Given the description of an element on the screen output the (x, y) to click on. 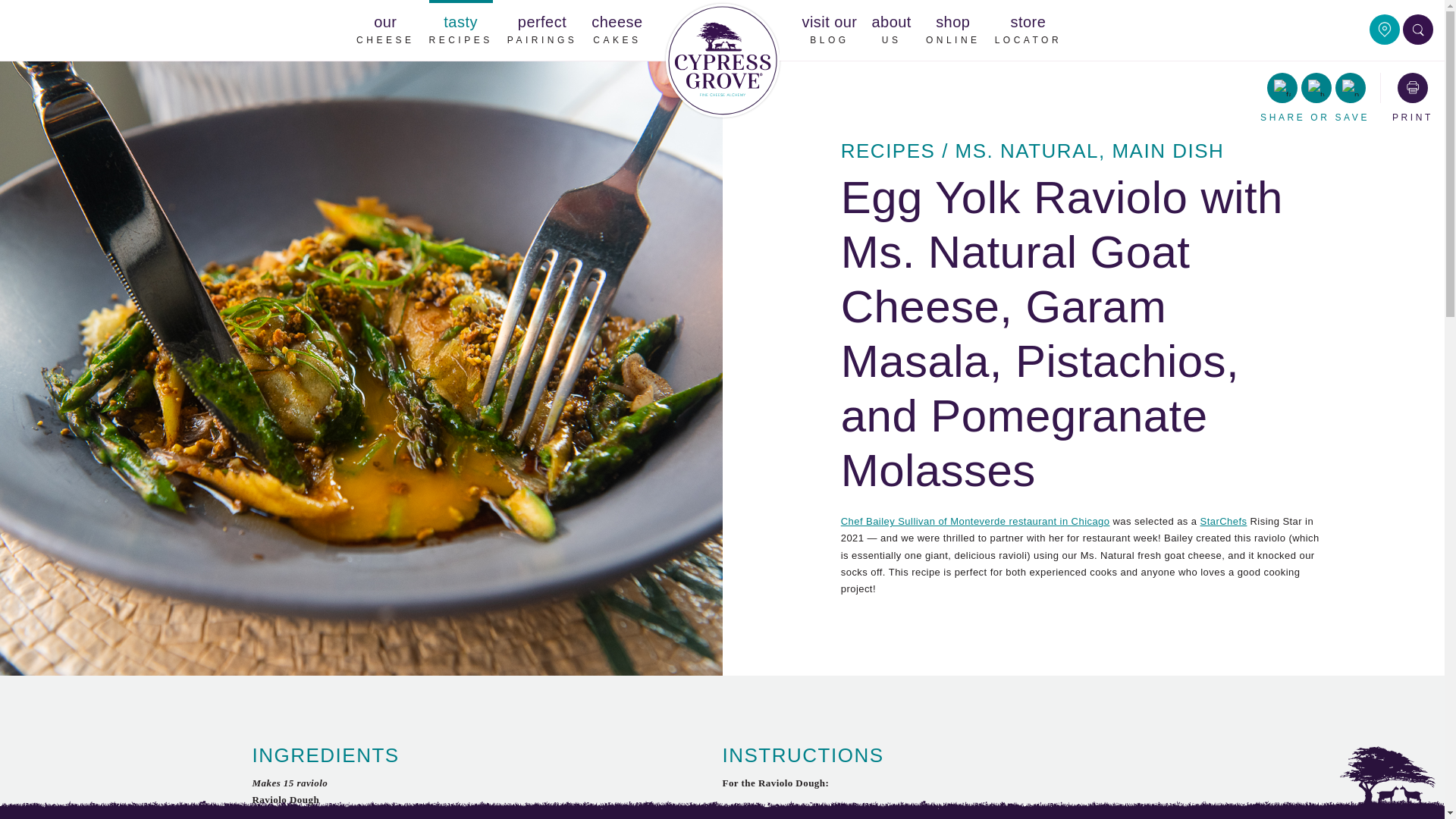
RECIPES (888, 150)
Home (721, 60)
MAIN DISH (1168, 150)
StarChefs (1223, 521)
MS. NATURAL (1027, 150)
Chef Bailey Sullivan of Monteverde restaurant in Chicago (616, 29)
